Given the description of an element on the screen output the (x, y) to click on. 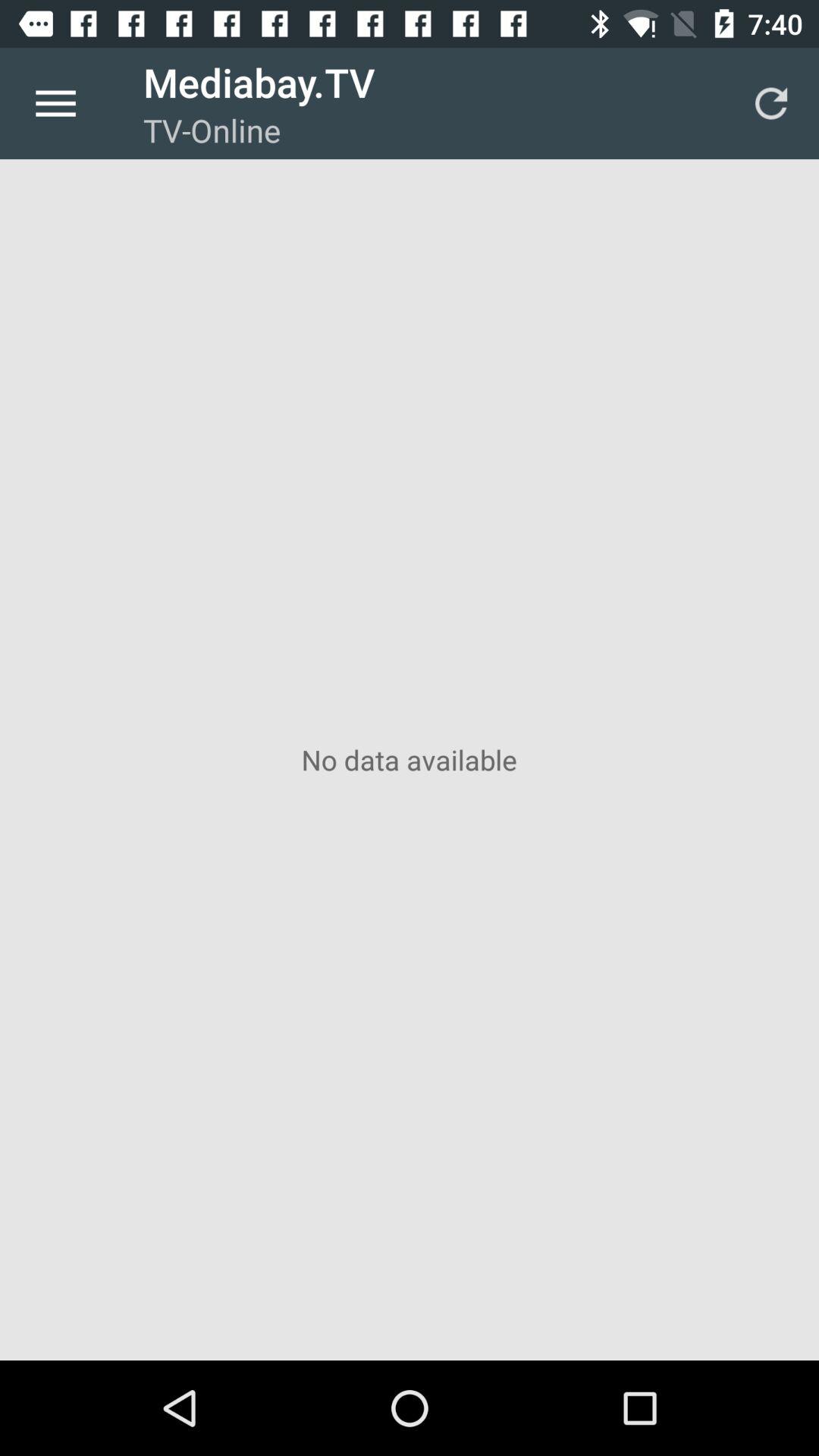
turn on the icon next to the mediabay.tv item (55, 103)
